Given the description of an element on the screen output the (x, y) to click on. 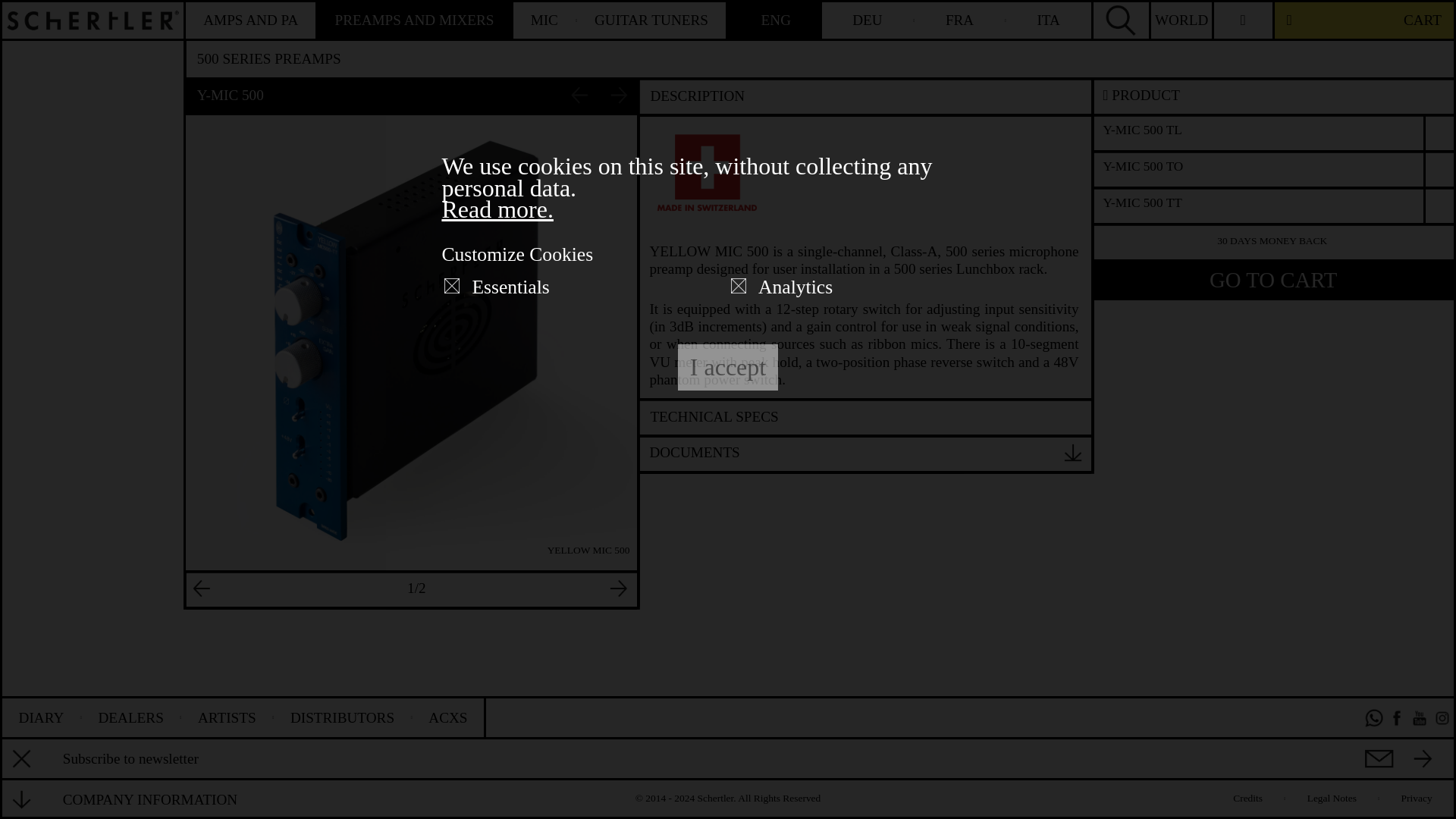
essential (452, 285)
analytics (737, 285)
AMPS AND PA (251, 20)
GUITAR TUNERS (650, 20)
PREAMPS AND MIXERS (414, 20)
MIC (544, 20)
CART (1364, 20)
Cookies related to site visits, browser types, etc. (795, 287)
DEU (868, 20)
ITA (1048, 20)
FRA (960, 20)
ENG (776, 20)
